Given the description of an element on the screen output the (x, y) to click on. 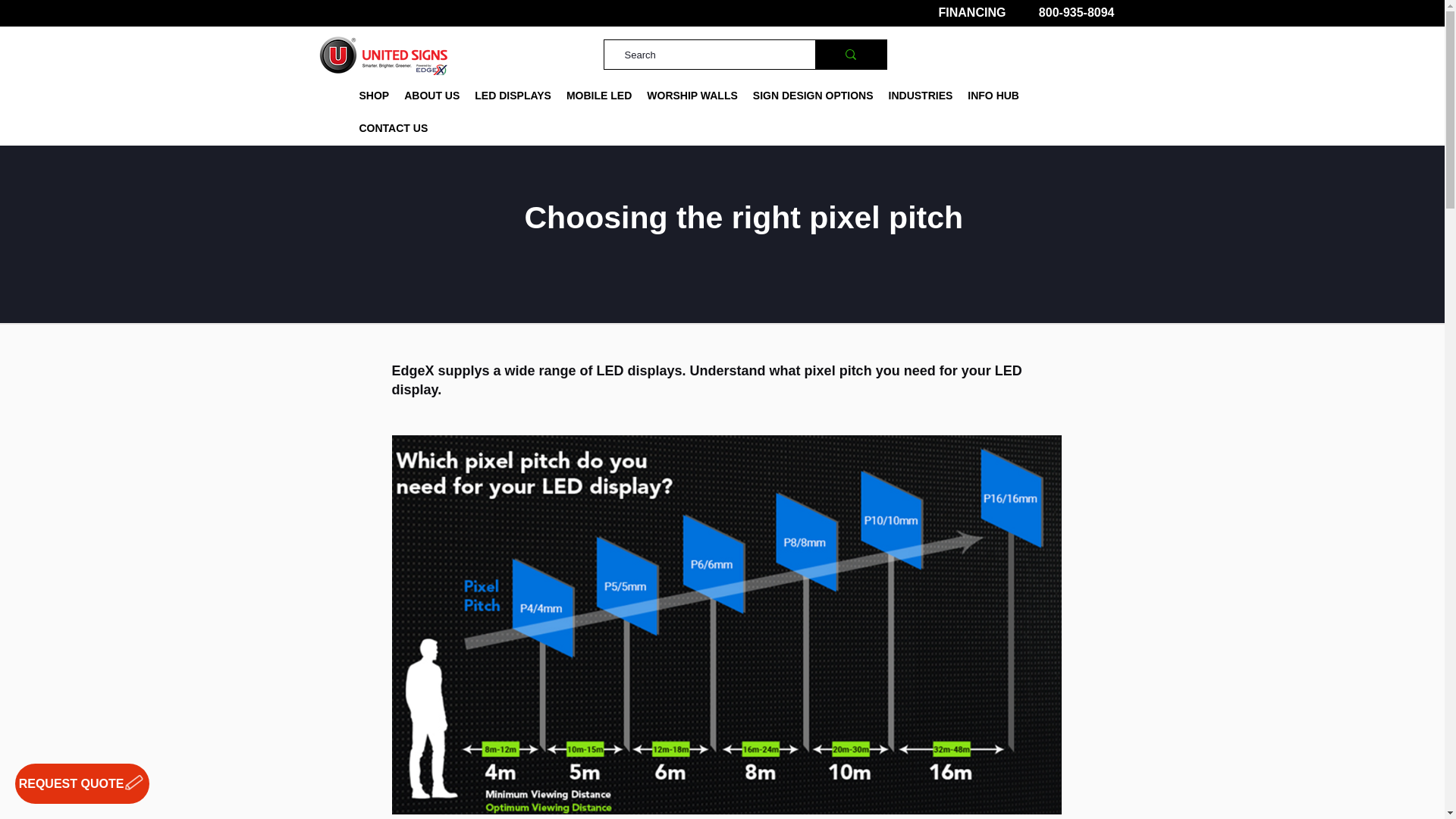
SHOP (374, 96)
LED DISPLAYS (513, 96)
SIGN DESIGN OPTIONS (812, 96)
WORSHIP WALLS (692, 96)
FINANCING (972, 11)
MOBILE LED (599, 96)
800-935-8094 (1077, 11)
ABOUT US (431, 96)
INDUSTRIES (920, 96)
